Given the description of an element on the screen output the (x, y) to click on. 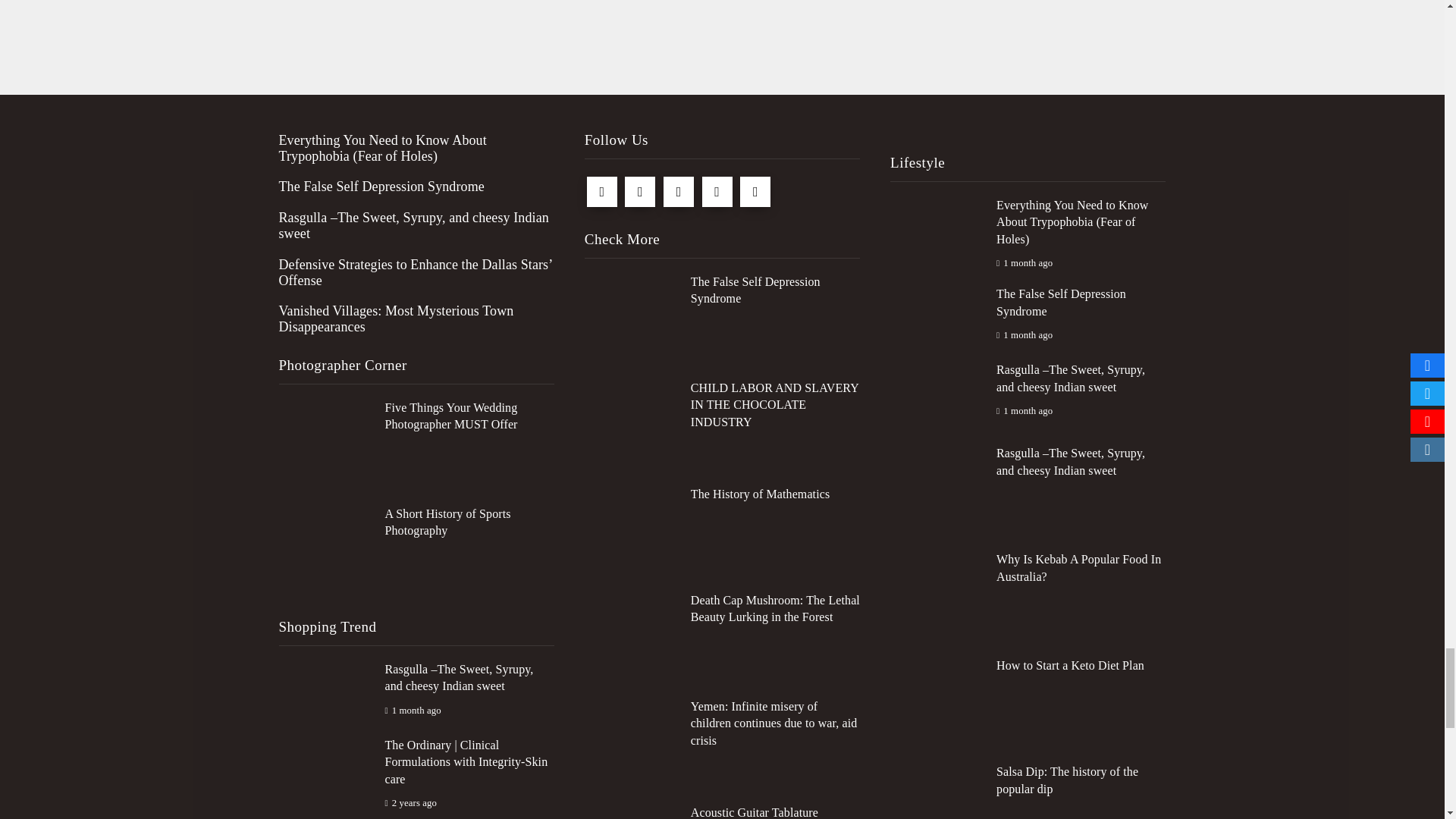
Facebook (601, 191)
Instagram (754, 191)
Youtube (716, 191)
Pinterest (678, 191)
Twitter (639, 191)
